Given the description of an element on the screen output the (x, y) to click on. 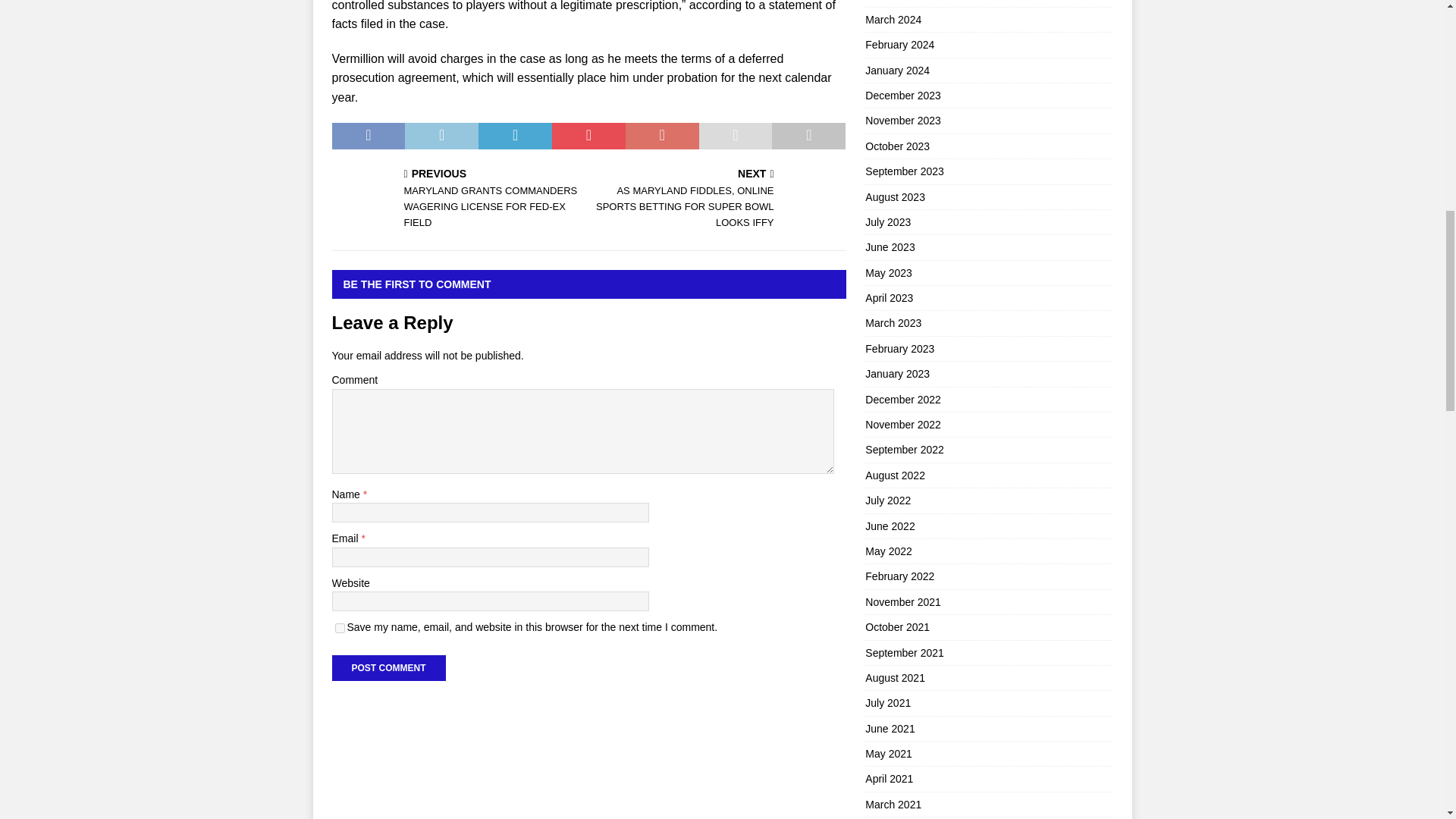
yes (339, 628)
Post Comment (388, 667)
